Given the description of an element on the screen output the (x, y) to click on. 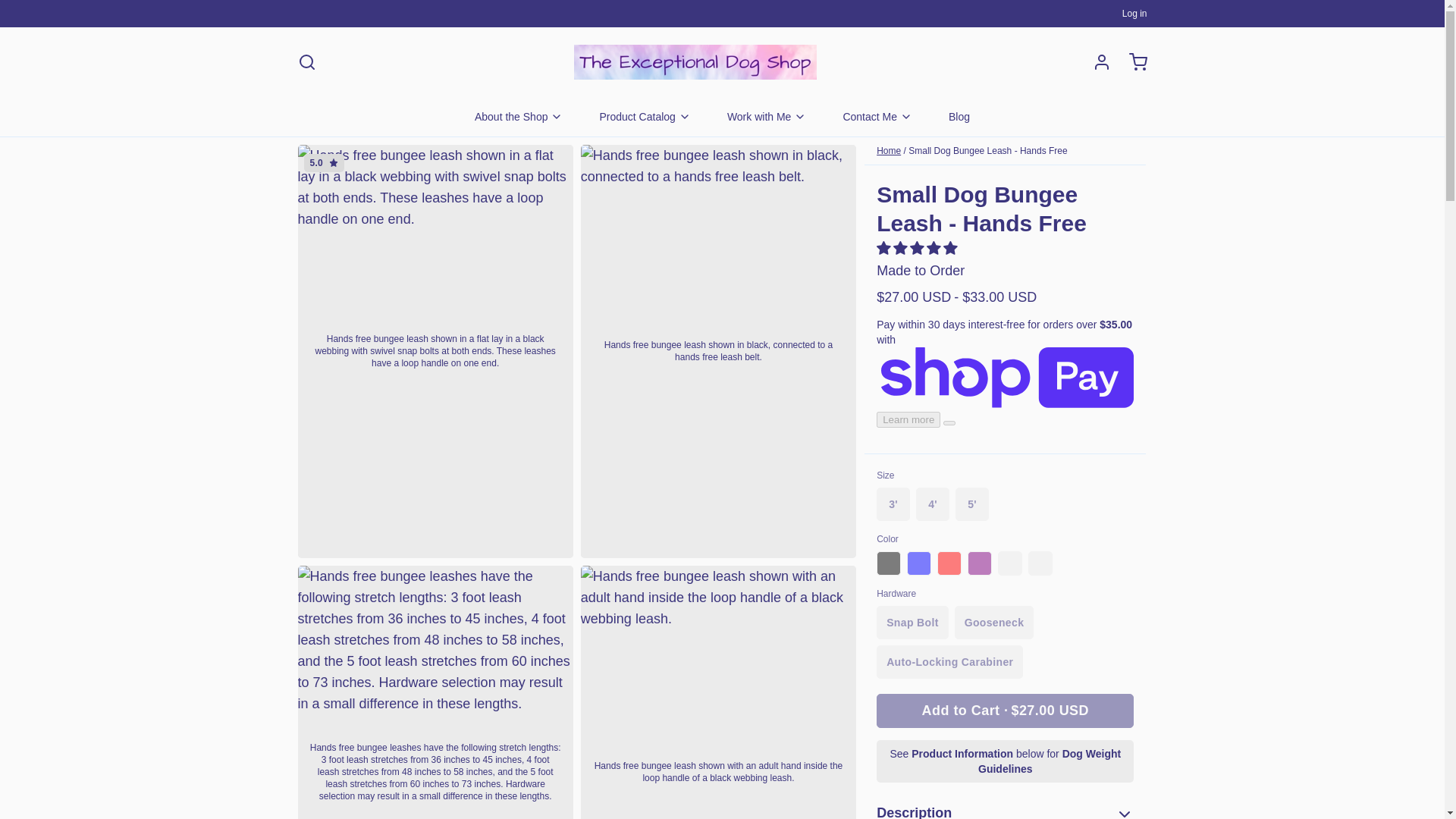
 Log in (1094, 62)
The Exceptional Dog Shop (694, 62)
Cart (1131, 62)
Home (888, 150)
Log in (1134, 13)
About the Shop (519, 116)
Search (306, 62)
